Given the description of an element on the screen output the (x, y) to click on. 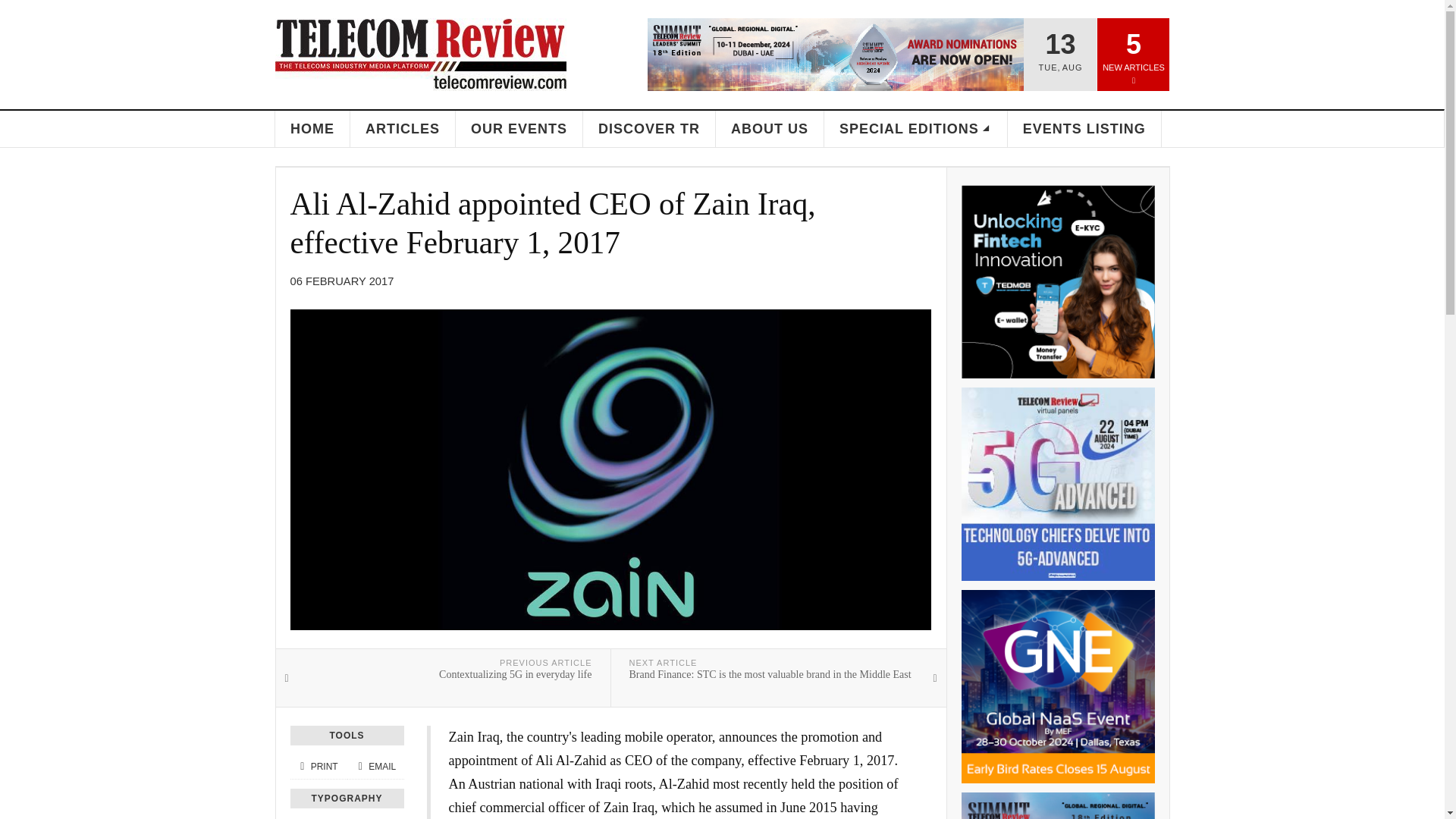
2024 08 5G-Advanced WB (1057, 483)
2024 03 TRS WB (1057, 805)
HOME (312, 128)
2024 07 TRS Awards Top WB (835, 54)
Email (375, 766)
2024 08 GNE WB (1057, 685)
2024 08 Tedmob WB (1057, 281)
Published:  (341, 281)
Print (318, 766)
